Given the description of an element on the screen output the (x, y) to click on. 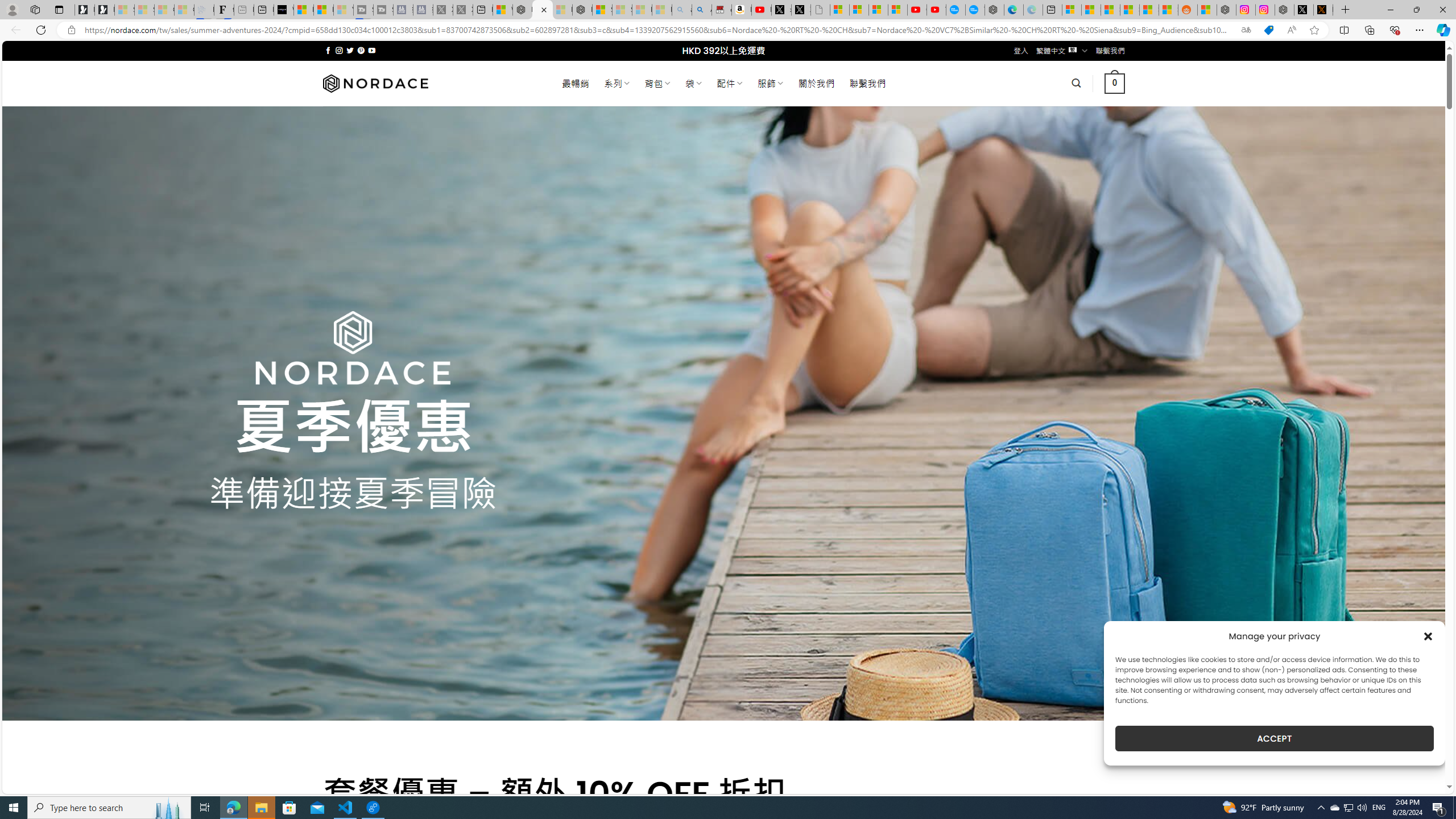
Day 1: Arriving in Yemen (surreal to be here) - YouTube (761, 9)
ACCEPT (1274, 738)
help.x.com | 524: A timeout occurred (1323, 9)
Follow on Twitter (349, 50)
Nordace (@NordaceOfficial) / X (1303, 9)
X - Sleeping (462, 9)
